Given the description of an element on the screen output the (x, y) to click on. 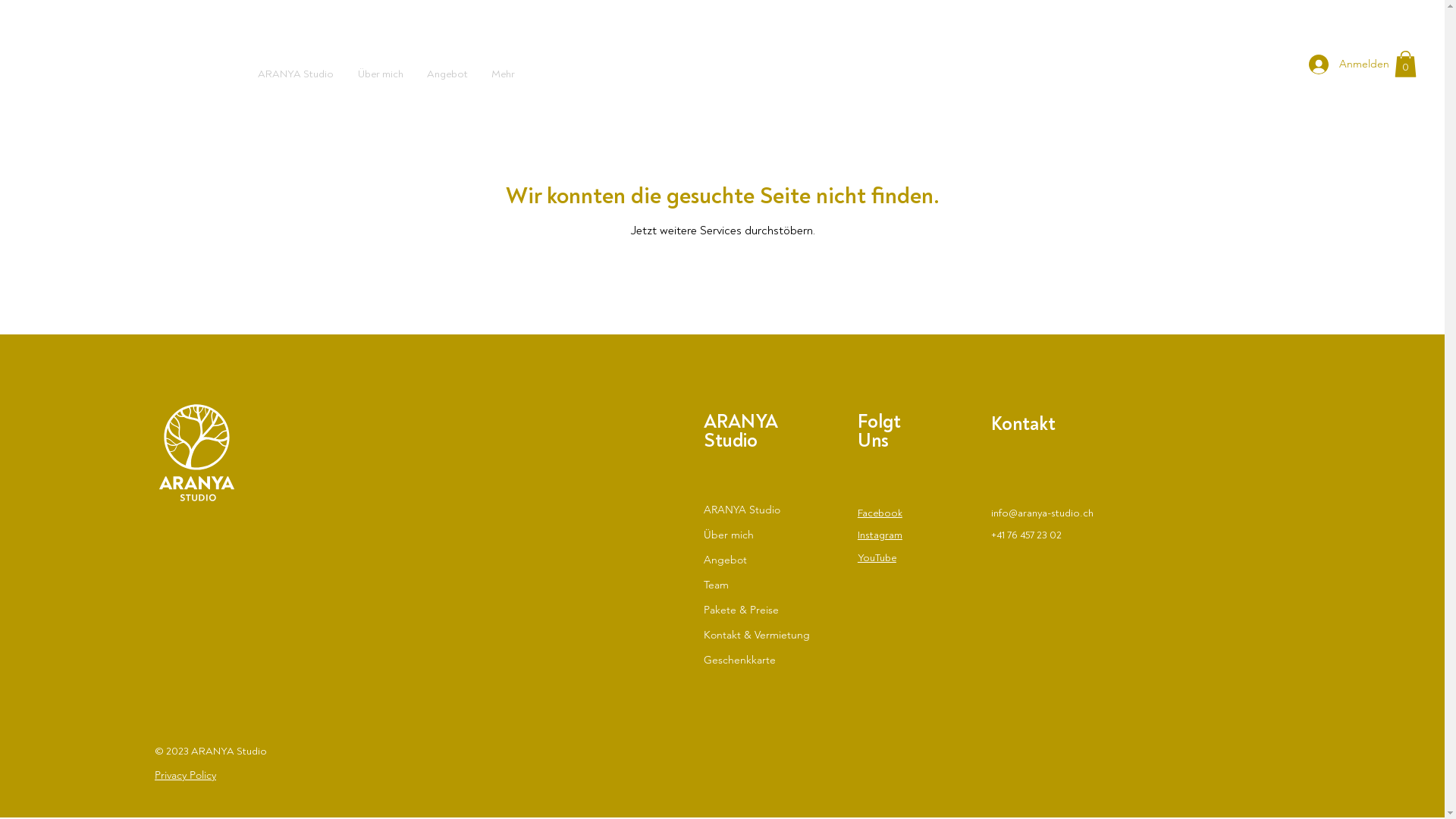
Instagram Element type: text (879, 534)
Privacy Policy Element type: text (185, 774)
Kontakt & Vermietung Element type: text (766, 634)
Anmelden Element type: text (1341, 64)
Angebot Element type: text (766, 559)
info@aranya-studio.ch Element type: text (1042, 512)
0 Element type: text (1405, 63)
ARANYA Studio Element type: text (766, 509)
Angebot Element type: text (447, 73)
Team Element type: text (766, 584)
YouTube Element type: text (876, 557)
Geschenkkarte Element type: text (766, 659)
Pakete & Preise Element type: text (766, 609)
Facebook Element type: text (879, 512)
ARANYA Studio Element type: text (295, 73)
